Given the description of an element on the screen output the (x, y) to click on. 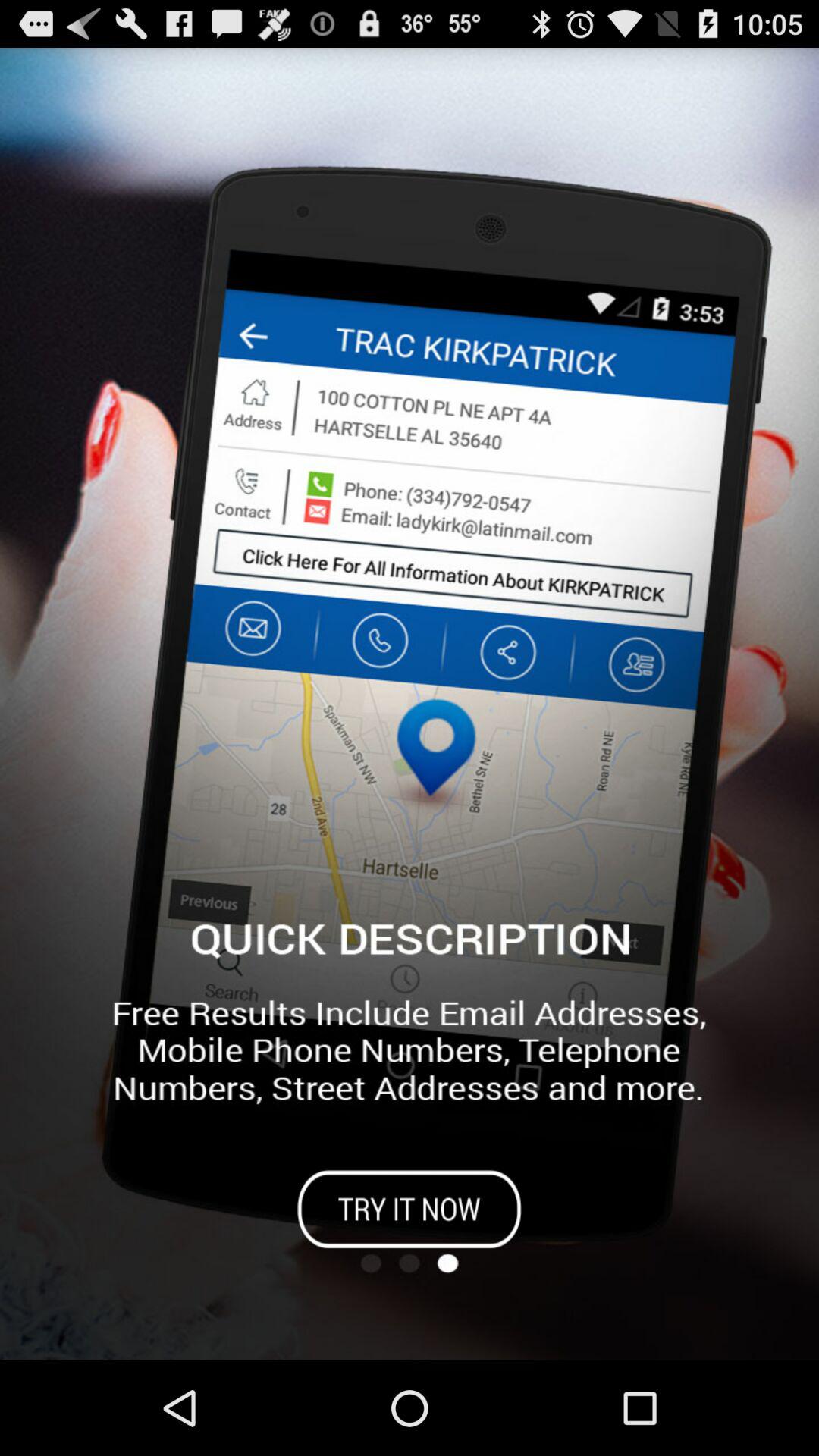
go to app page (409, 1208)
